Given the description of an element on the screen output the (x, y) to click on. 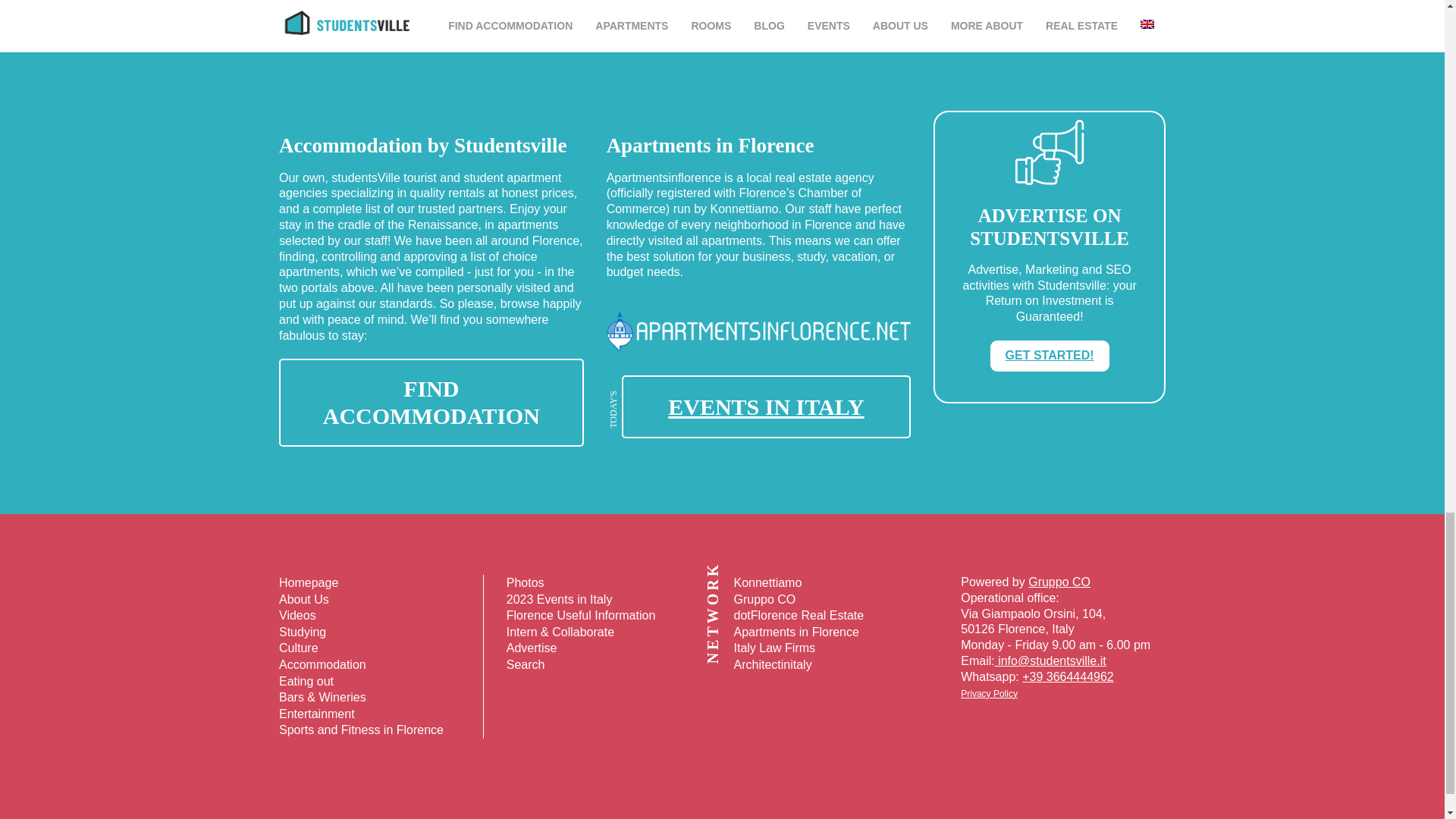
Studentsville Pinterest (711, 780)
StudentsVille Twitter (752, 780)
Studentsville Flickr (691, 780)
Apartments Studentsville (431, 402)
Apartments in Florence (759, 368)
Studentsville Instagram (671, 780)
StudentsVille Facebook (772, 780)
StudentsVille Youtube (732, 780)
Gruppo CO (1058, 581)
Privacy Policy (988, 693)
